Given the description of an element on the screen output the (x, y) to click on. 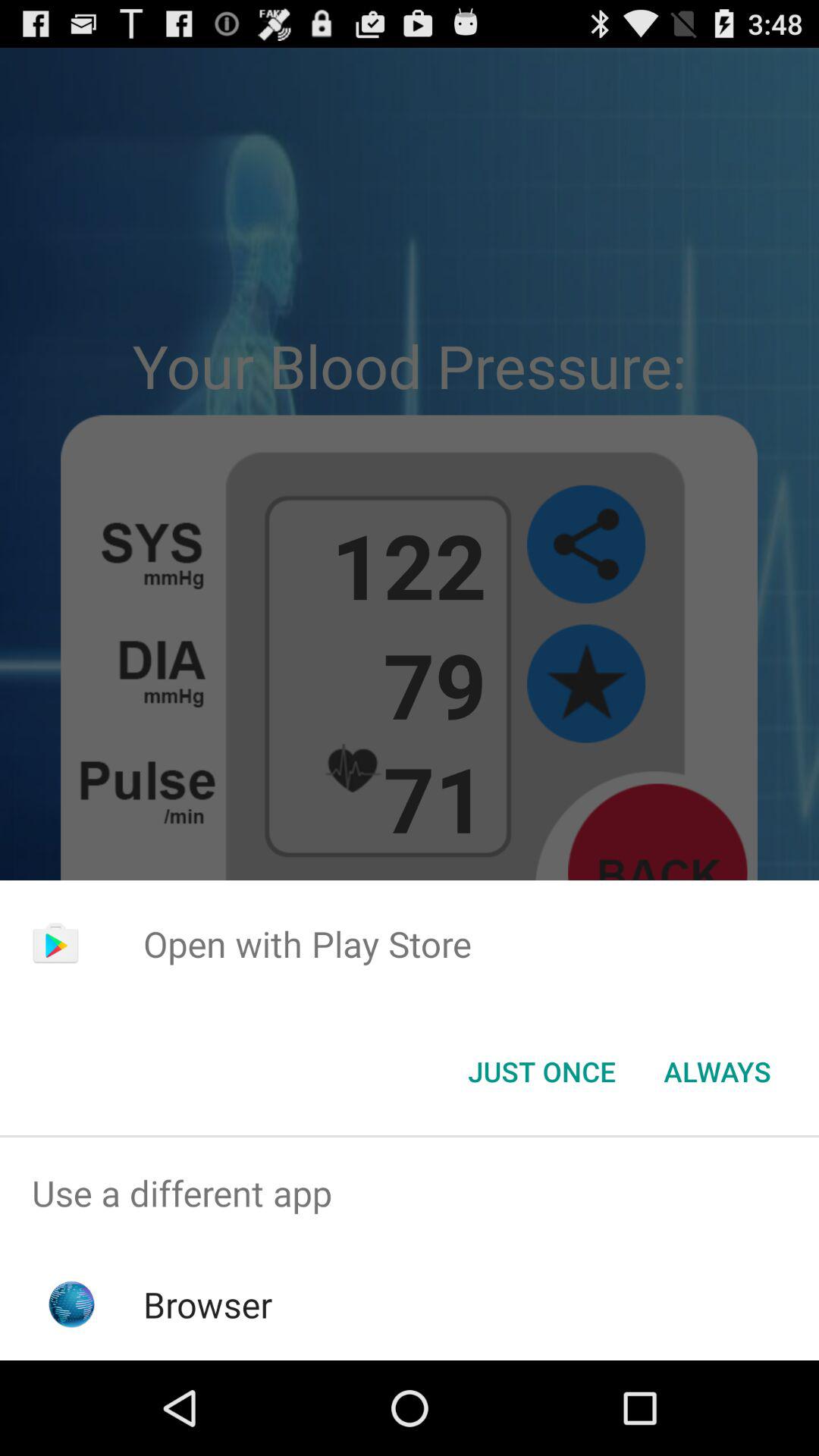
click the item below open with play (717, 1071)
